Given the description of an element on the screen output the (x, y) to click on. 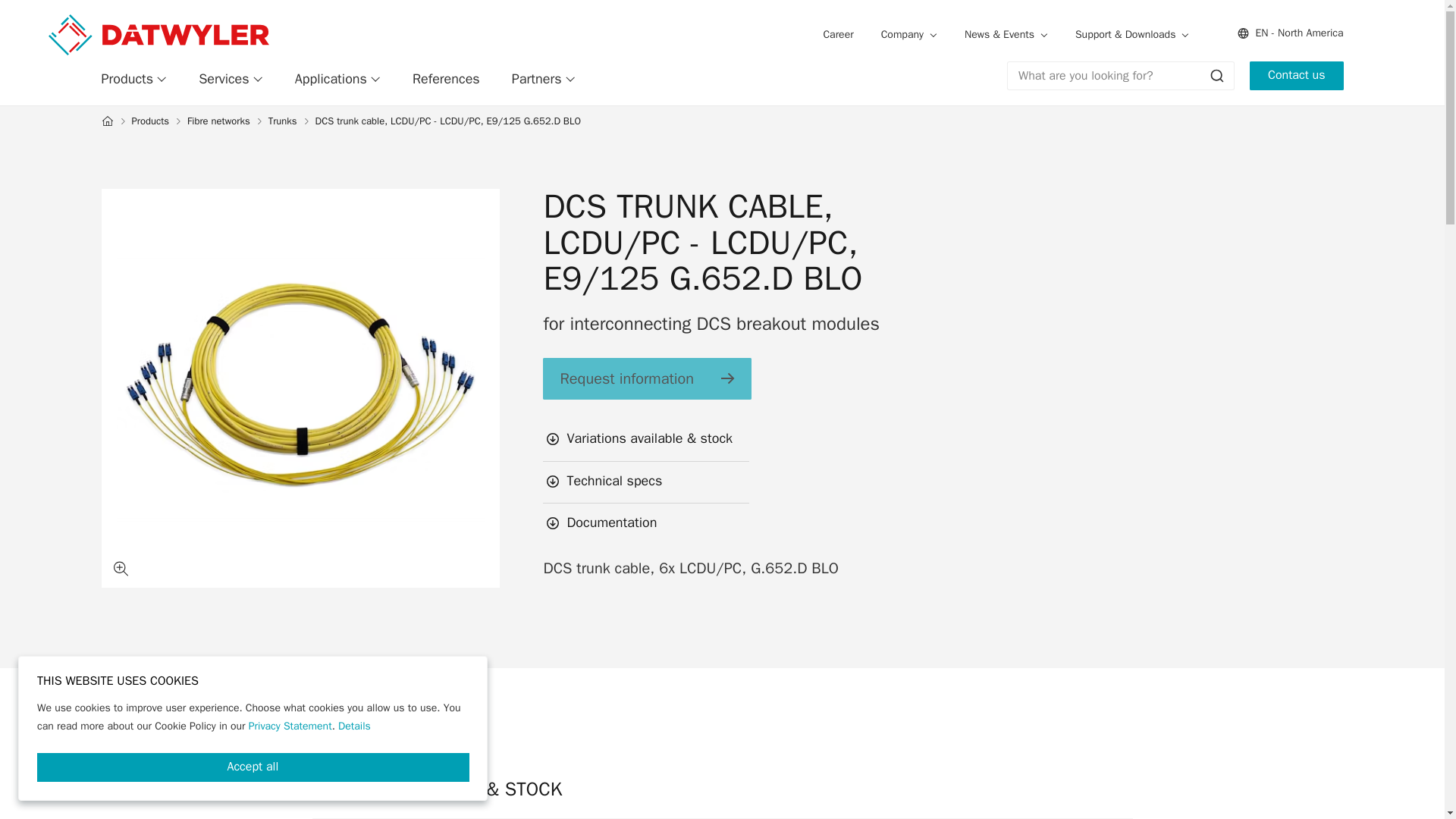
Products (134, 78)
Submit (1215, 75)
Applications (337, 78)
Services (230, 78)
Contact us (1295, 75)
